Given the description of an element on the screen output the (x, y) to click on. 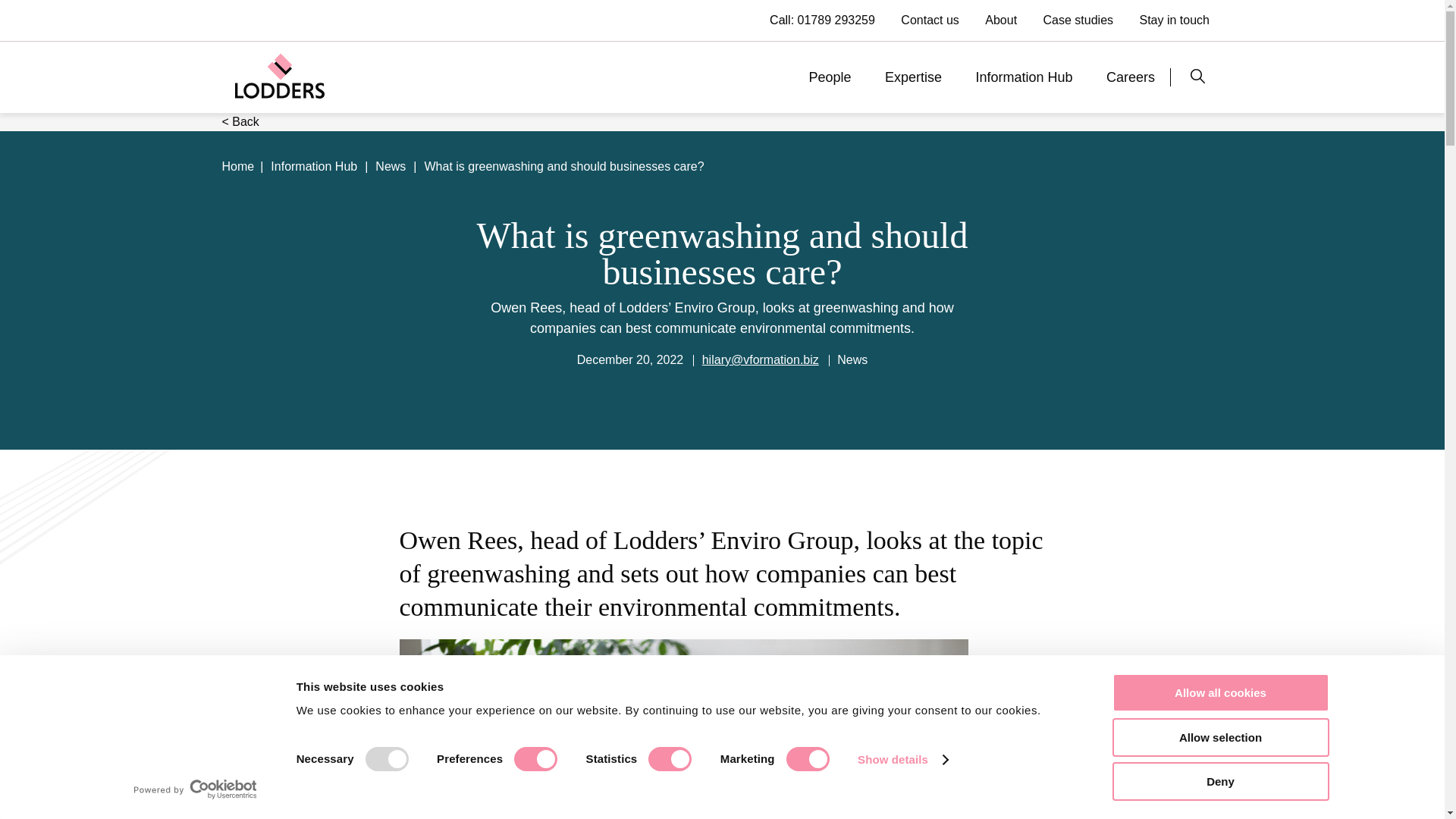
Show details (902, 759)
